Given the description of an element on the screen output the (x, y) to click on. 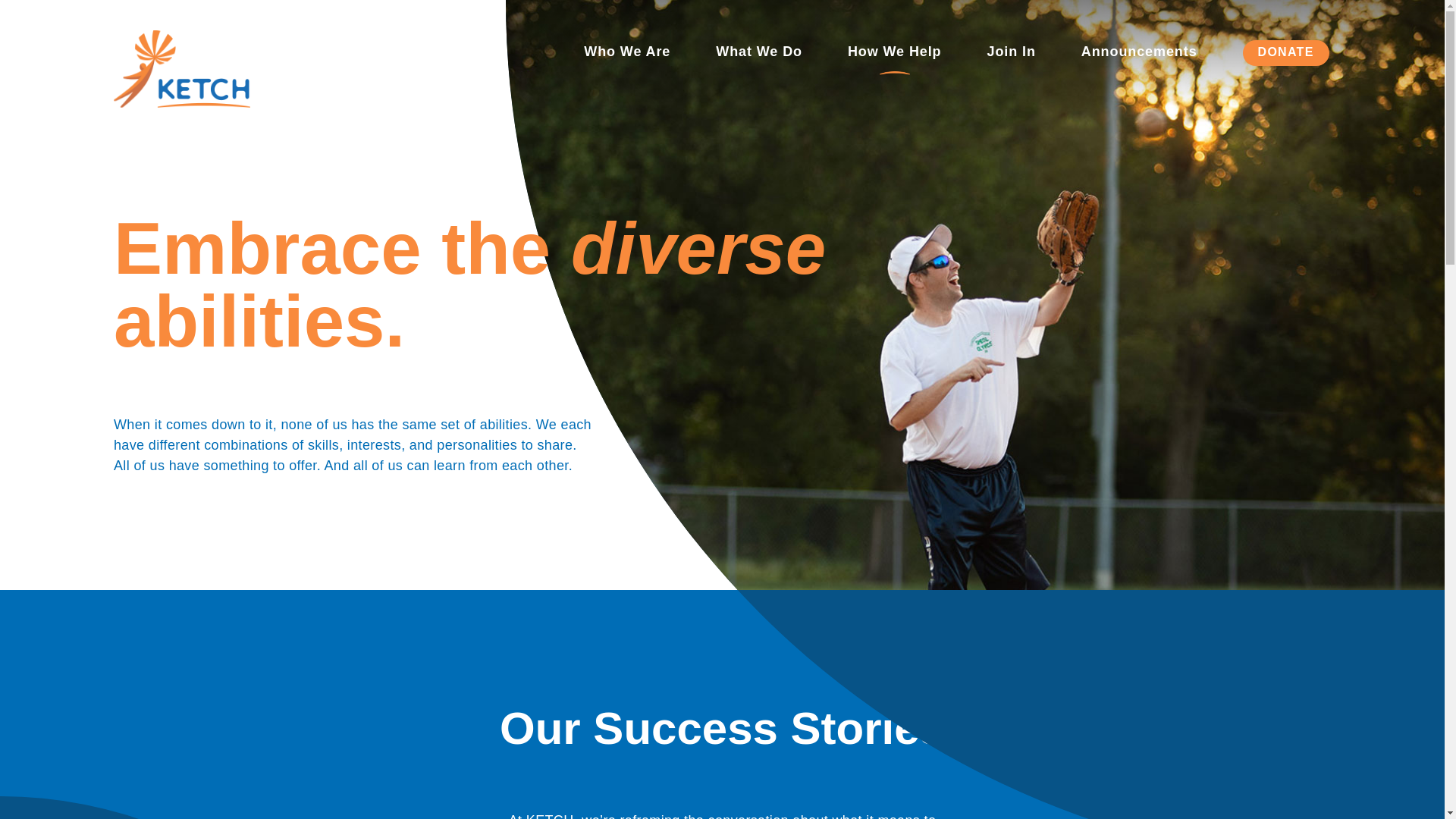
DONATE (1286, 52)
Who We Are (626, 52)
Announcements (1139, 52)
Join In (1010, 52)
What We Do (759, 52)
How We Help (894, 52)
